Given the description of an element on the screen output the (x, y) to click on. 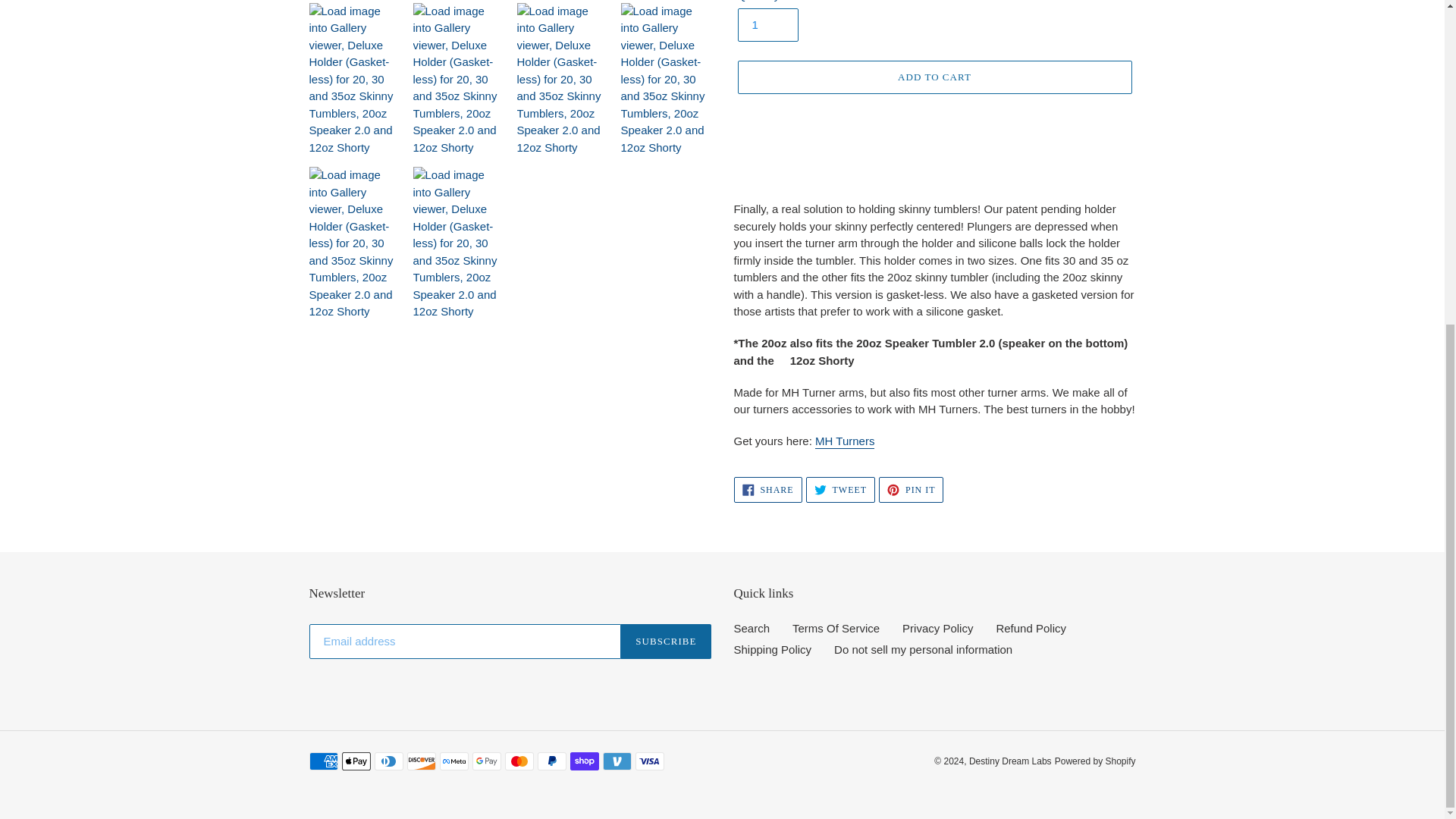
Terms Of Service (835, 627)
Shipping Policy (772, 649)
MH Turners LLC (840, 489)
Privacy Policy (845, 441)
Search (937, 627)
Destiny Dream Labs (751, 627)
SUBSCRIBE (911, 489)
MH Turners (1010, 760)
Refund Policy (665, 641)
Do not sell my personal information (767, 489)
1 (845, 441)
ADD TO CART (1030, 627)
